Given the description of an element on the screen output the (x, y) to click on. 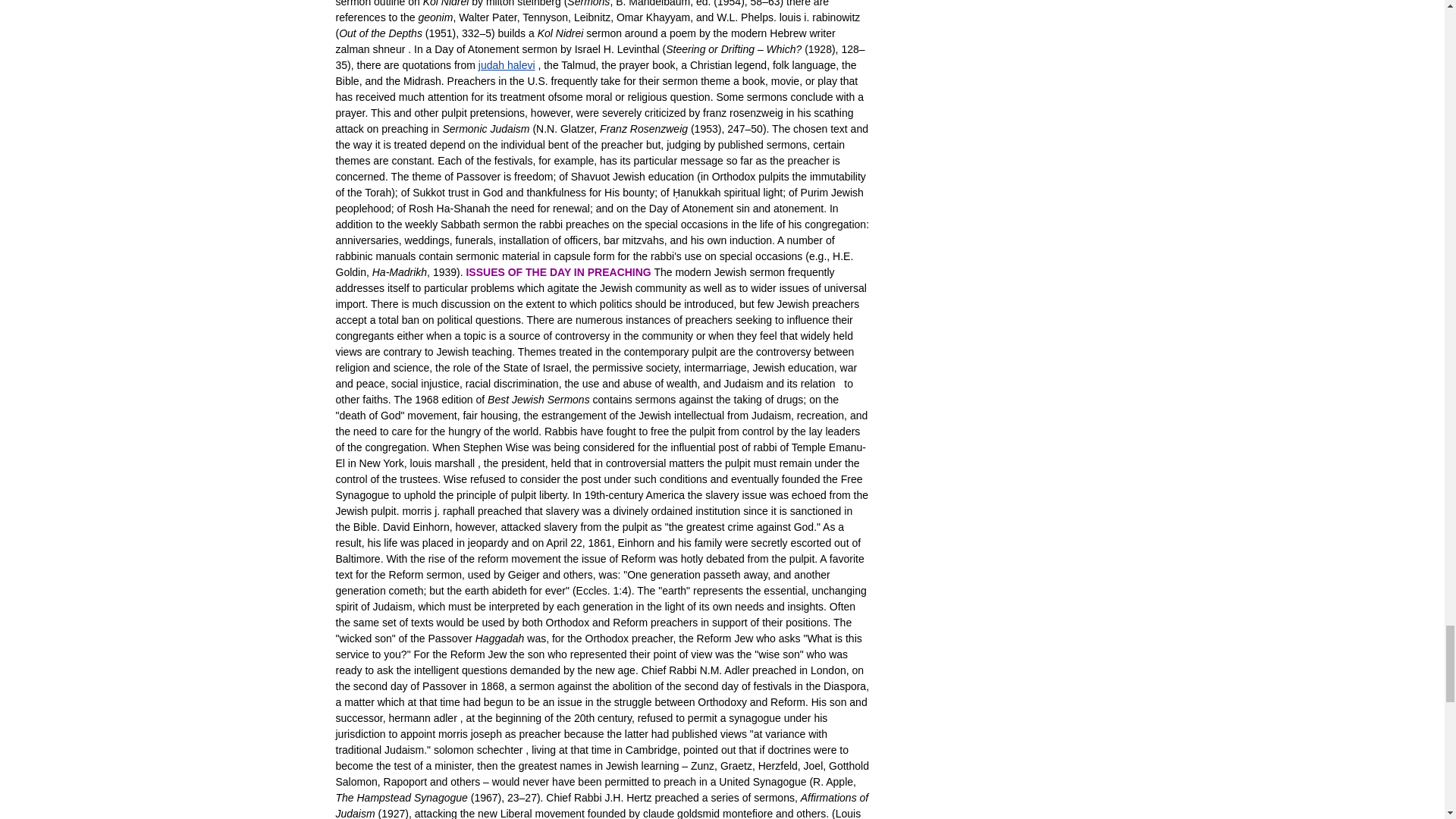
judah halevi (507, 64)
